Given the description of an element on the screen output the (x, y) to click on. 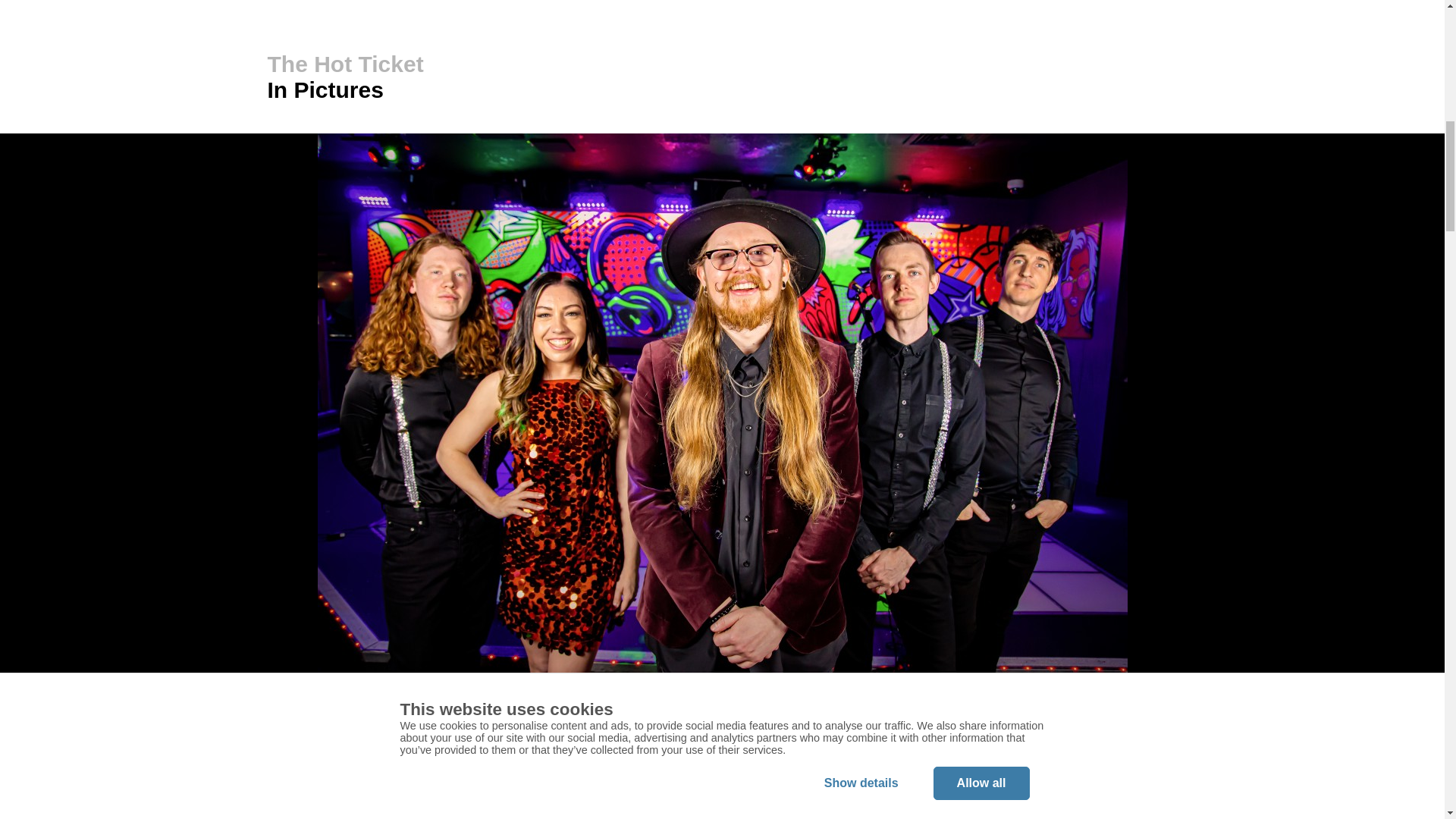
Allow all (981, 65)
Show details (860, 80)
